Given the description of an element on the screen output the (x, y) to click on. 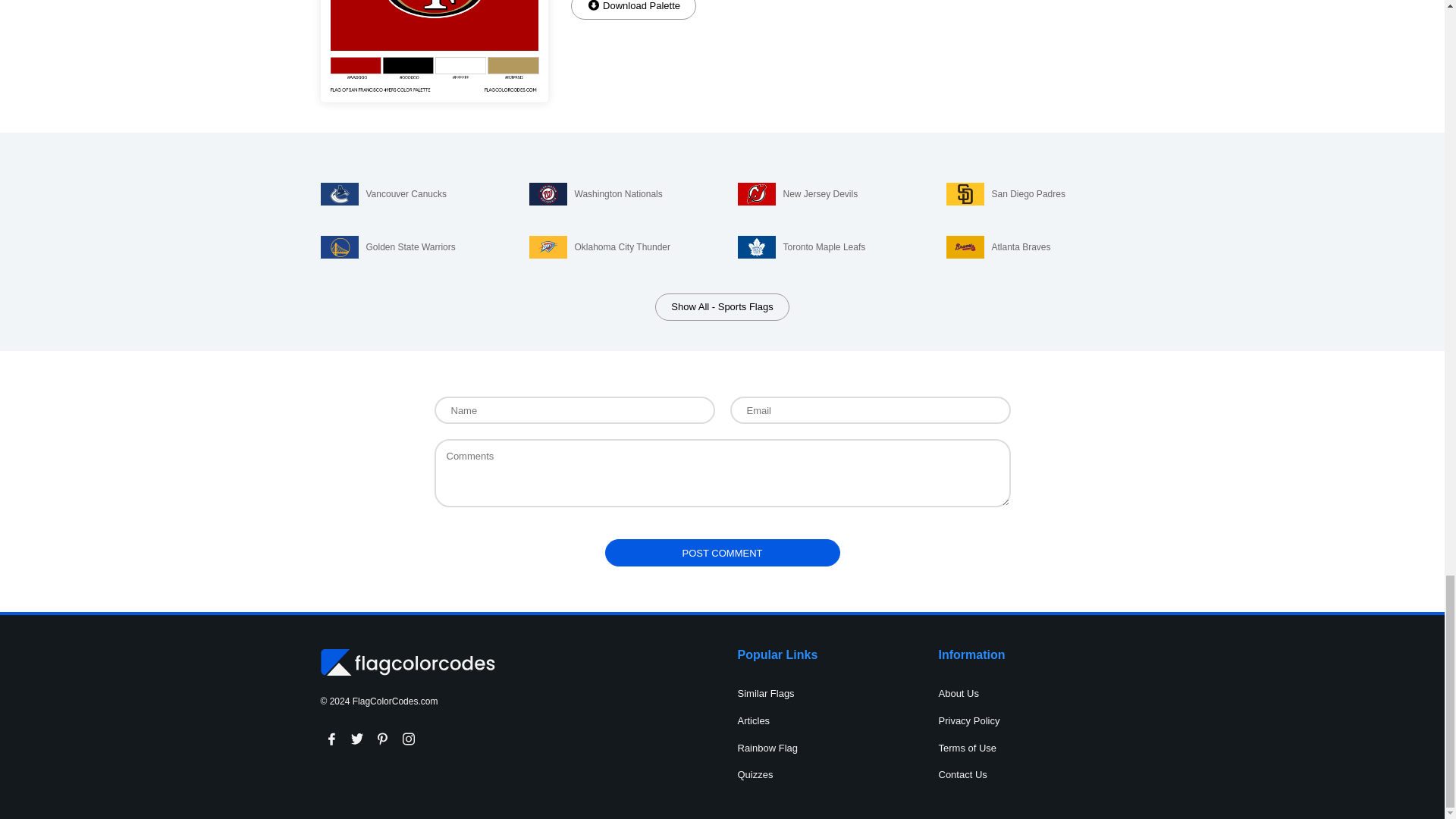
POST COMMENT (722, 552)
FlagColorCodes Logo (407, 662)
Washington Nationals (618, 193)
Show all Sports flags (722, 307)
Vancouver Canucks (408, 193)
New Jersey Devils (825, 193)
San Diego Padres (1035, 193)
Download Palette (632, 9)
San Francisco 49ers Flag Color Palette (433, 51)
